Given the description of an element on the screen output the (x, y) to click on. 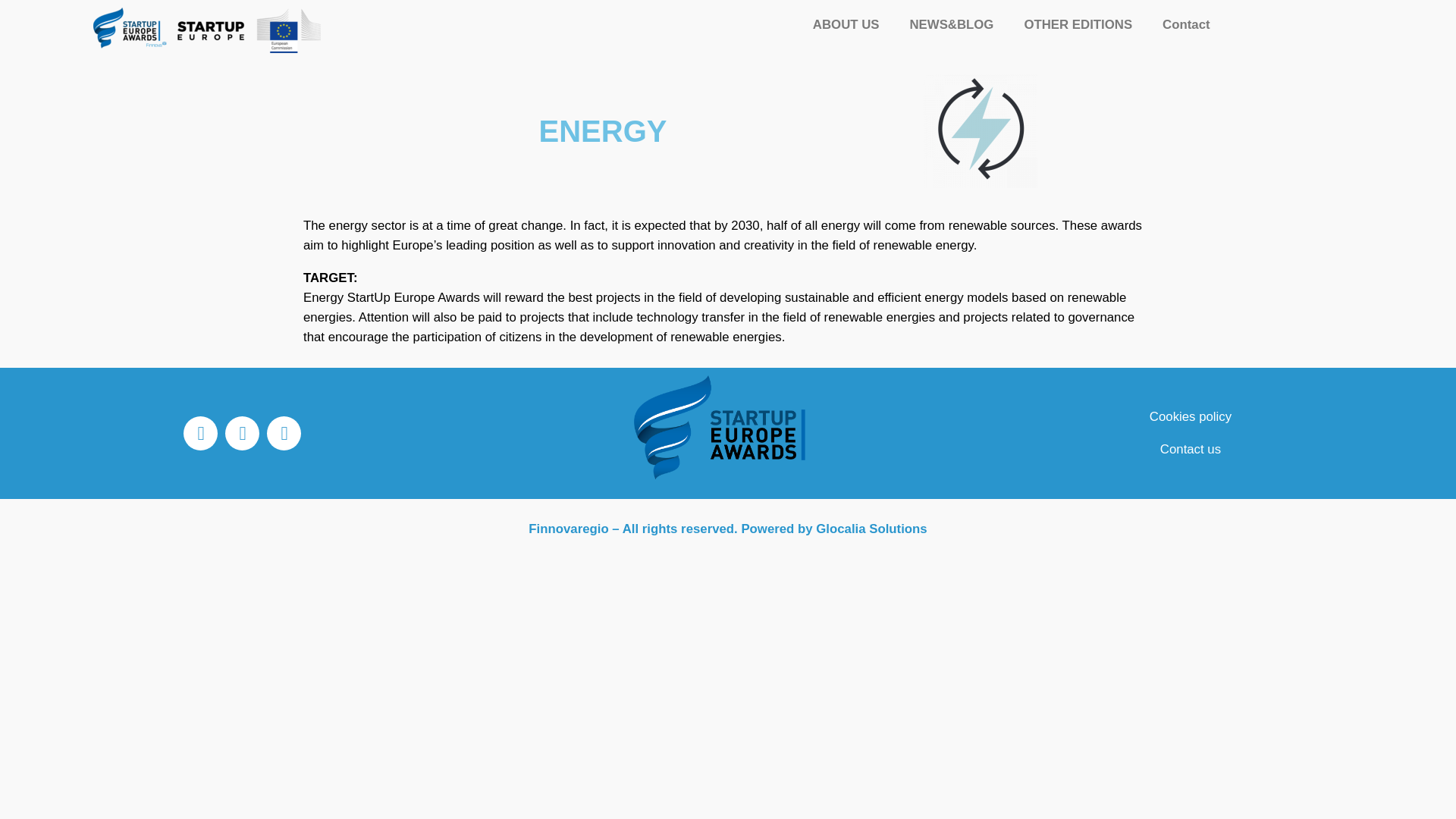
OTHER EDITIONS (1078, 24)
ENERGY (979, 131)
Contact (1185, 24)
ABOUT US (846, 24)
